Given the description of an element on the screen output the (x, y) to click on. 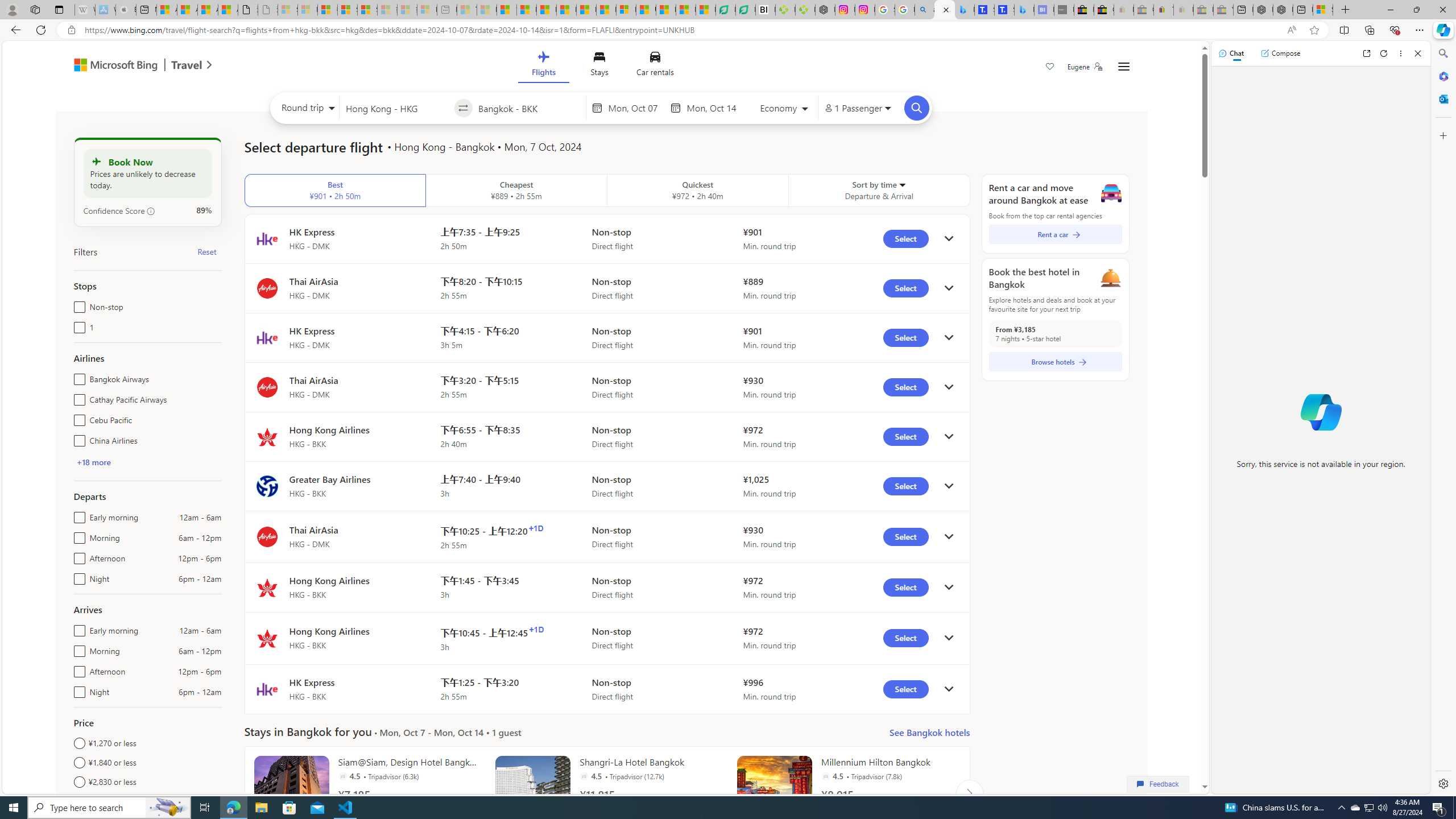
Microsoft Bing Travel - Shangri-La Hotel Bangkok (1024, 9)
Top Stories - MSN - Sleeping (466, 9)
Sign in to your Microsoft account - Sleeping (287, 9)
Press Room - eBay Inc. - Sleeping (1203, 9)
Descarga Driver Updater (804, 9)
Afternoon12pm - 6pm (76, 669)
